Given the description of an element on the screen output the (x, y) to click on. 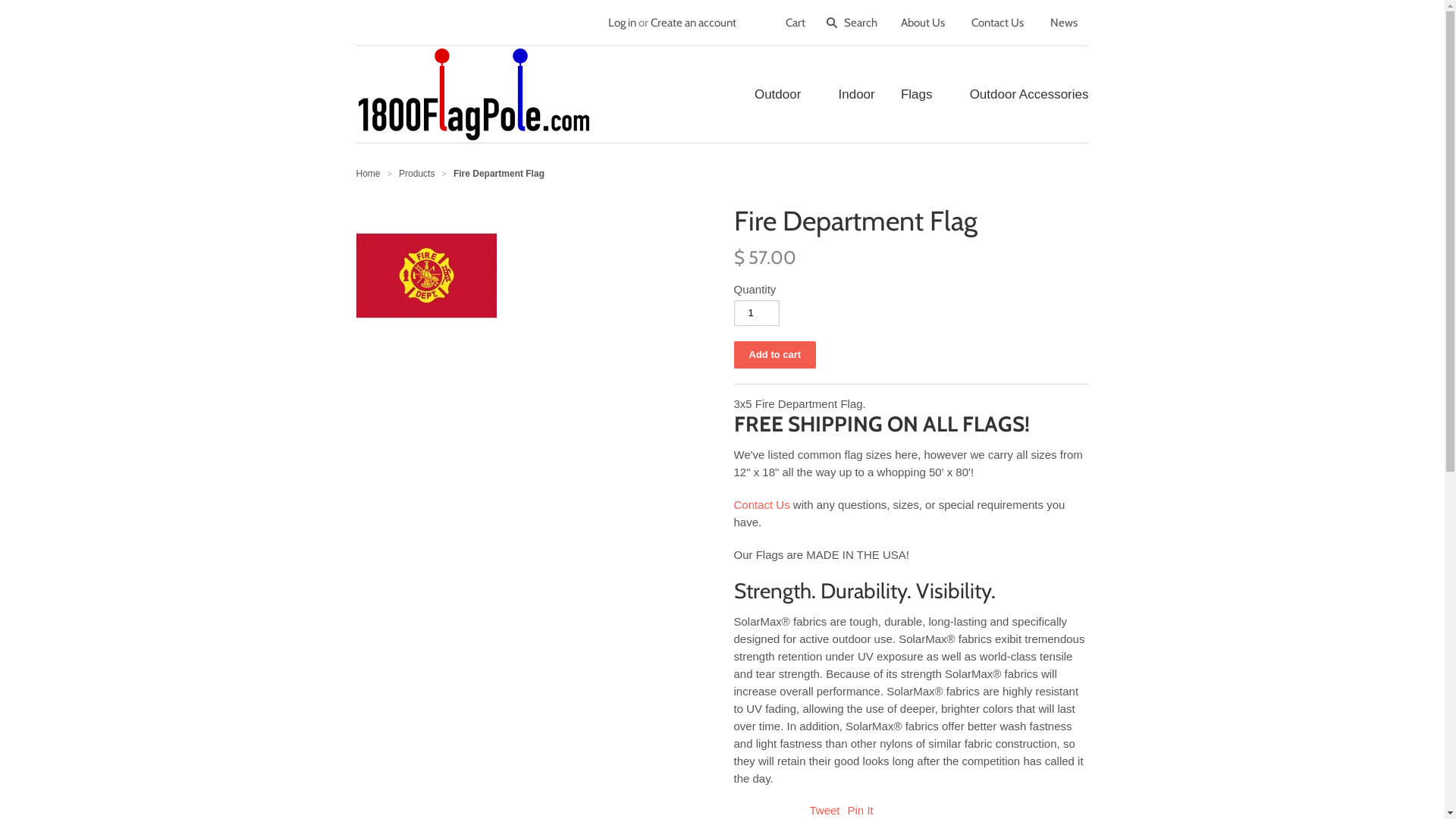
Outdoor Accessories Element type: text (1017, 93)
Flags Element type: text (911, 93)
Home Element type: text (368, 173)
About Us Element type: text (922, 22)
Pin It Element type: text (860, 809)
Add to cart Element type: text (775, 354)
Indoor Element type: text (845, 93)
Cart Element type: text (795, 22)
Tweet Element type: text (824, 809)
Outdoor Element type: text (783, 93)
Contact Us Element type: text (996, 22)
1800flagpole.com Element type: hover (479, 94)
Contact Us Element type: text (762, 504)
Products Element type: text (416, 173)
News Element type: text (1062, 22)
Log in Element type: text (622, 22)
Create an account Element type: text (693, 22)
